Given the description of an element on the screen output the (x, y) to click on. 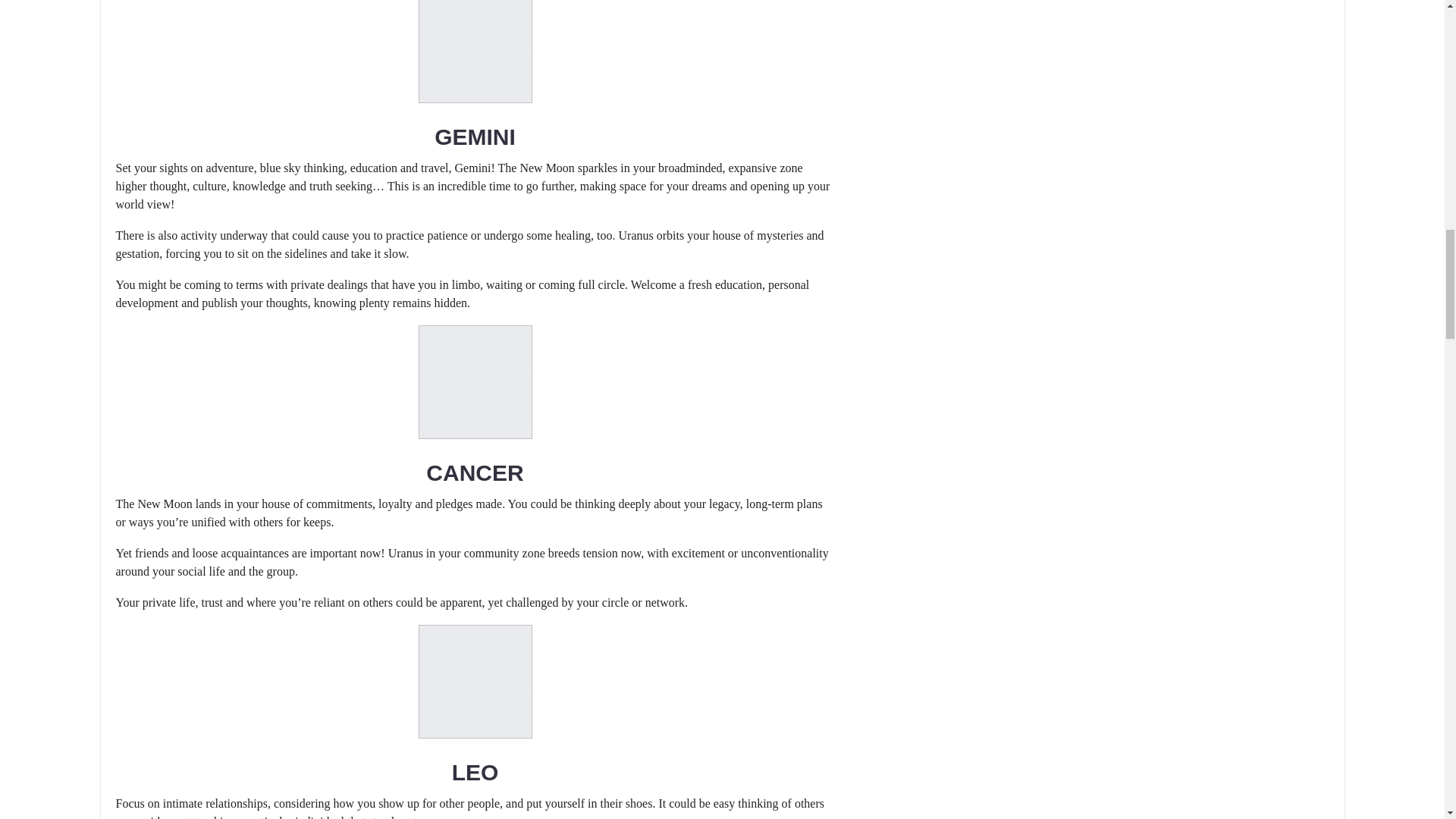
GEMINI (474, 136)
CANCER (474, 472)
